Given the description of an element on the screen output the (x, y) to click on. 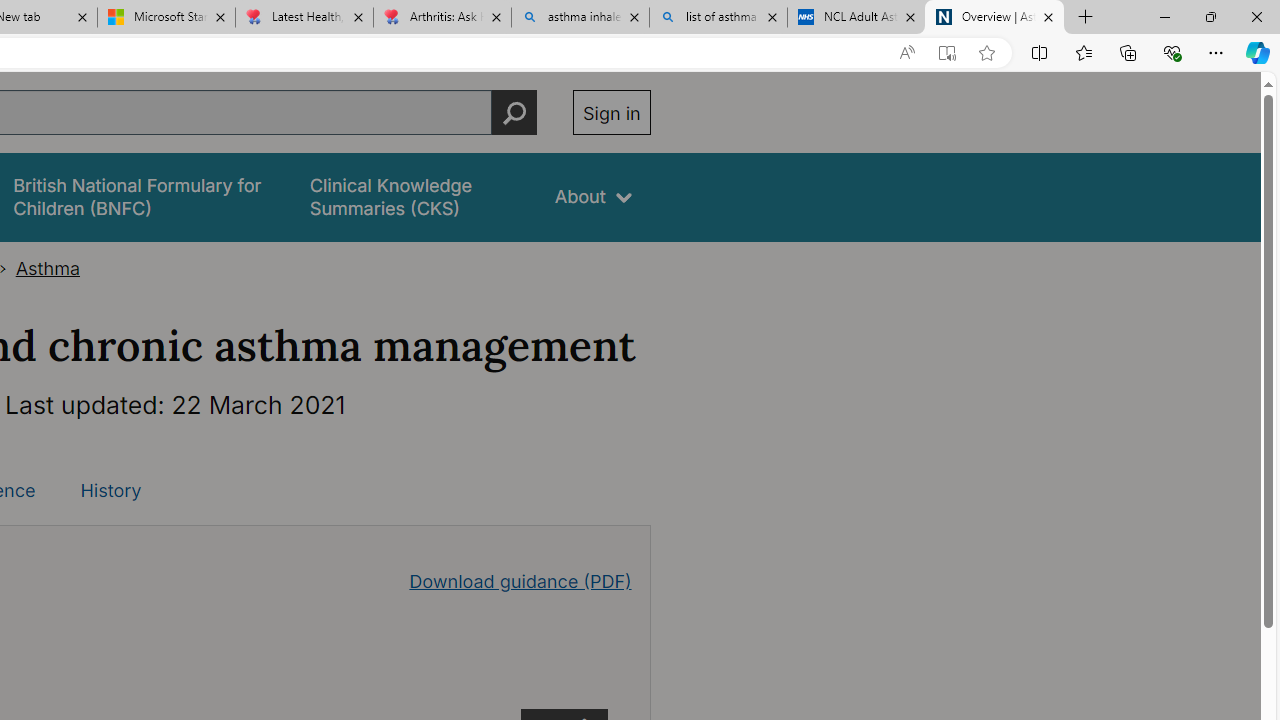
Asthma (47, 268)
Asthma (47, 268)
false (413, 196)
History (110, 490)
